Given the description of an element on the screen output the (x, y) to click on. 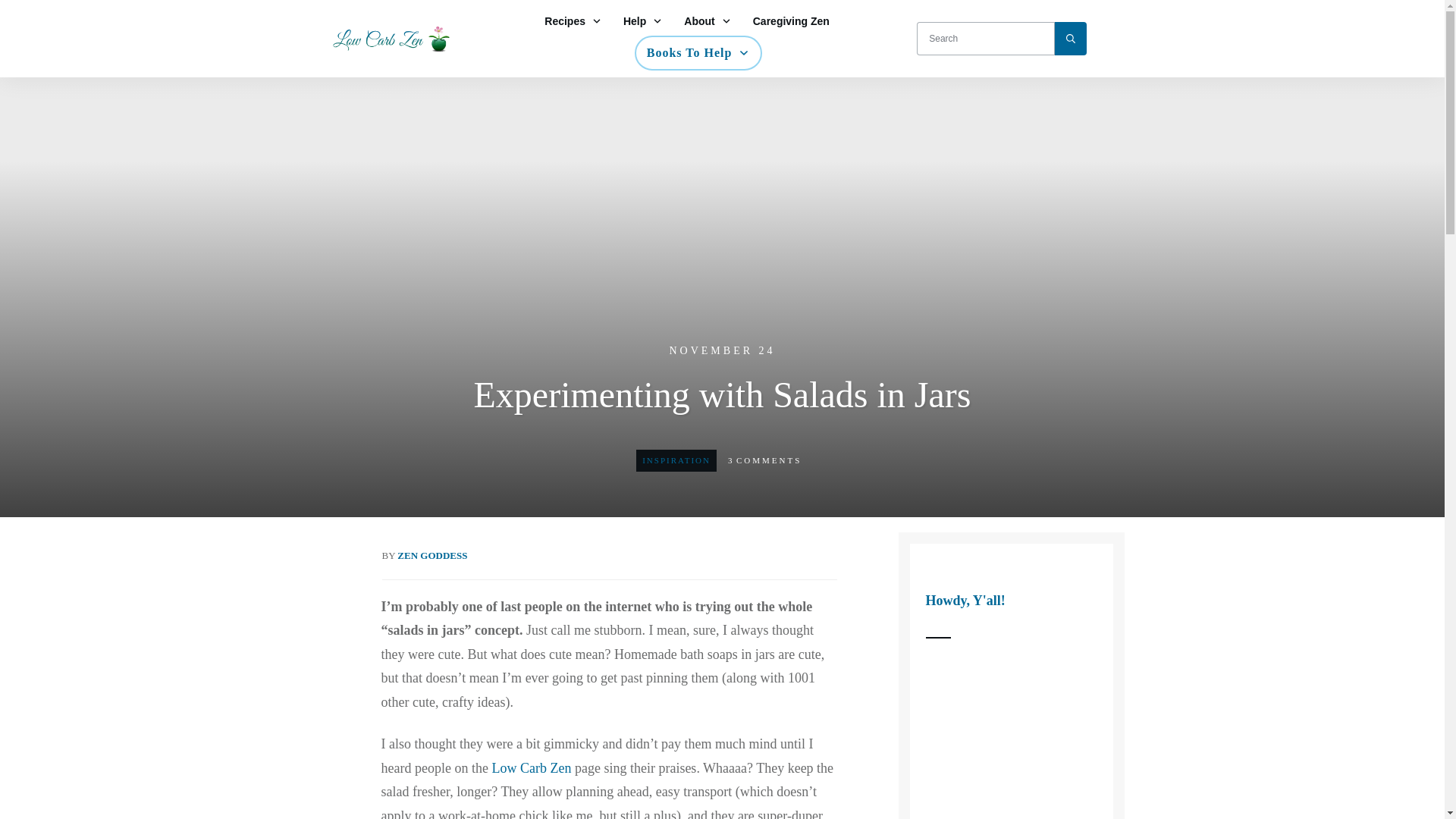
Caregiving Zen (790, 20)
About (707, 20)
Help (642, 20)
Recipes (573, 20)
ZEN GODDESS (432, 555)
Low Carb Zen on Facebook (531, 767)
Books To Help (698, 52)
Inspiration (676, 460)
Low Carb Zen (531, 767)
INSPIRATION (676, 460)
